Given the description of an element on the screen output the (x, y) to click on. 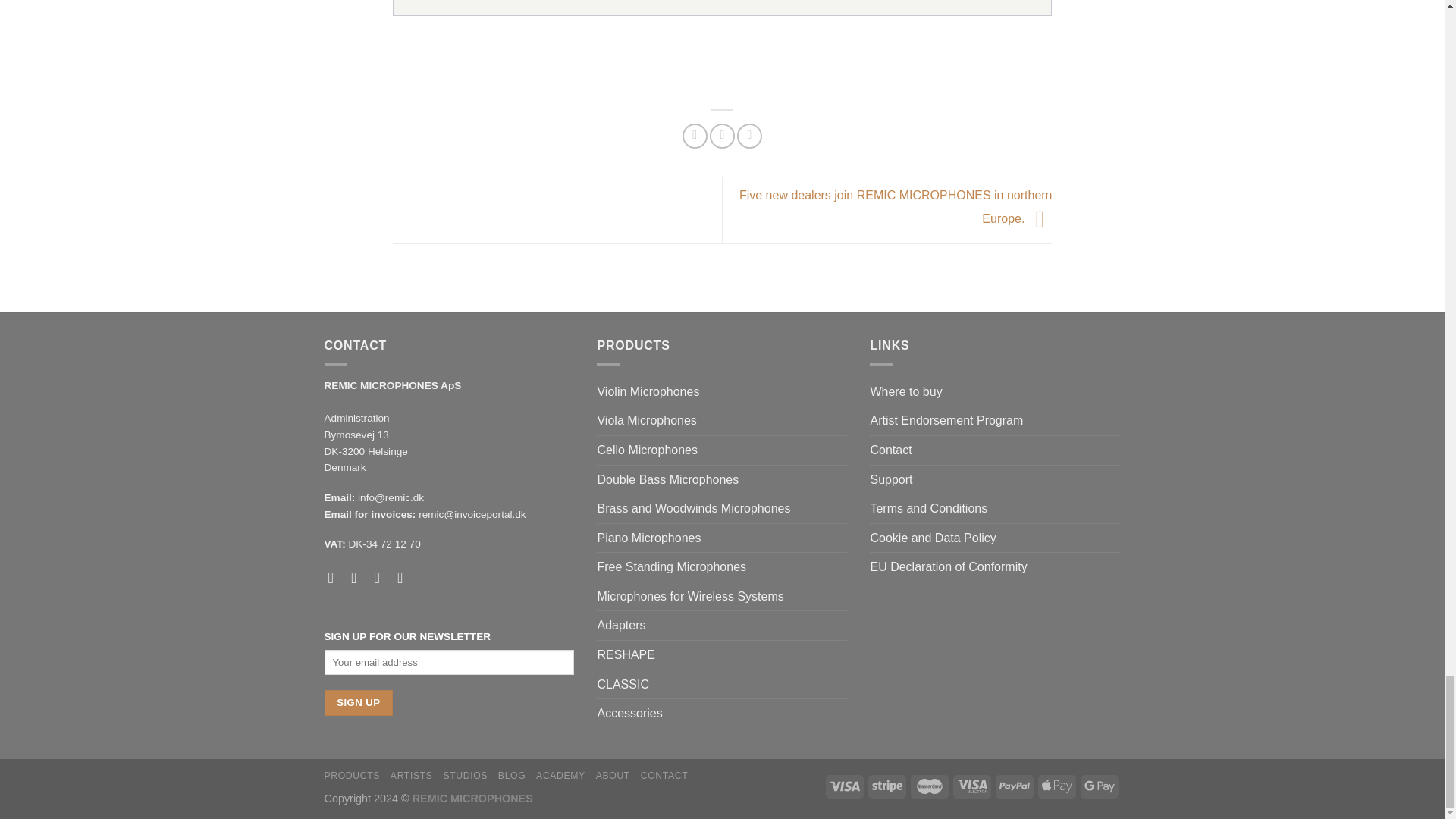
Share on Facebook (694, 135)
Share on Twitter (722, 135)
Sign up (358, 702)
Email to a Friend (748, 135)
